Given the description of an element on the screen output the (x, y) to click on. 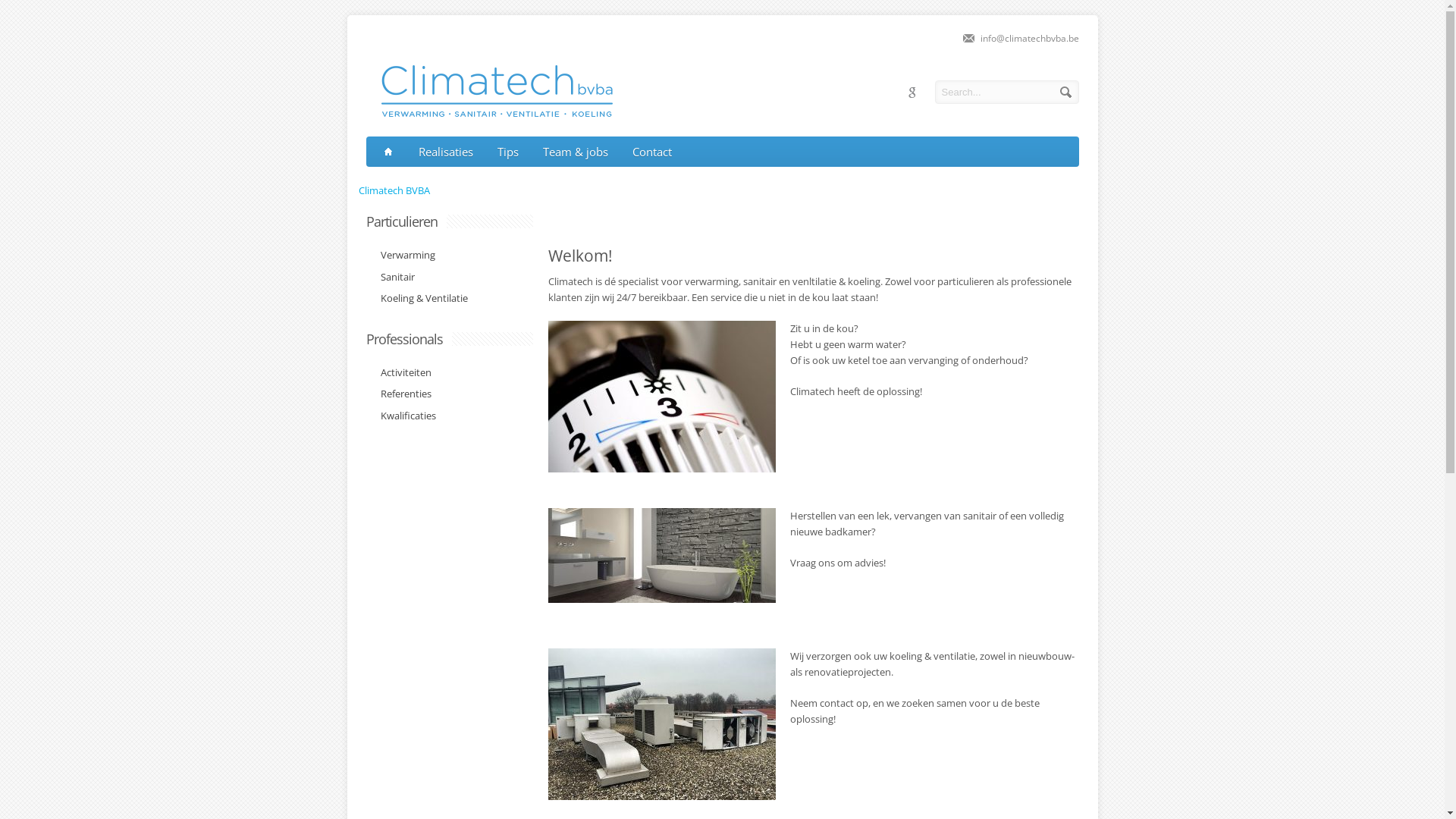
Search... Element type: text (1006, 91)
Tips Element type: text (507, 151)
Verwarming Element type: text (403, 255)
Contact Element type: text (652, 151)
Referenties Element type: text (401, 393)
Koeling & Ventilatie Element type: text (419, 298)
google Element type: text (911, 92)
Realisaties Element type: text (445, 151)
Activiteiten Element type: text (401, 372)
Team & jobs Element type: text (575, 151)
Climatech BVBA Element type: text (393, 190)
Climatech BVBA Element type: hover (488, 112)
Kwalificaties Element type: text (403, 415)
Sanitair Element type: text (393, 277)
